Given the description of an element on the screen output the (x, y) to click on. 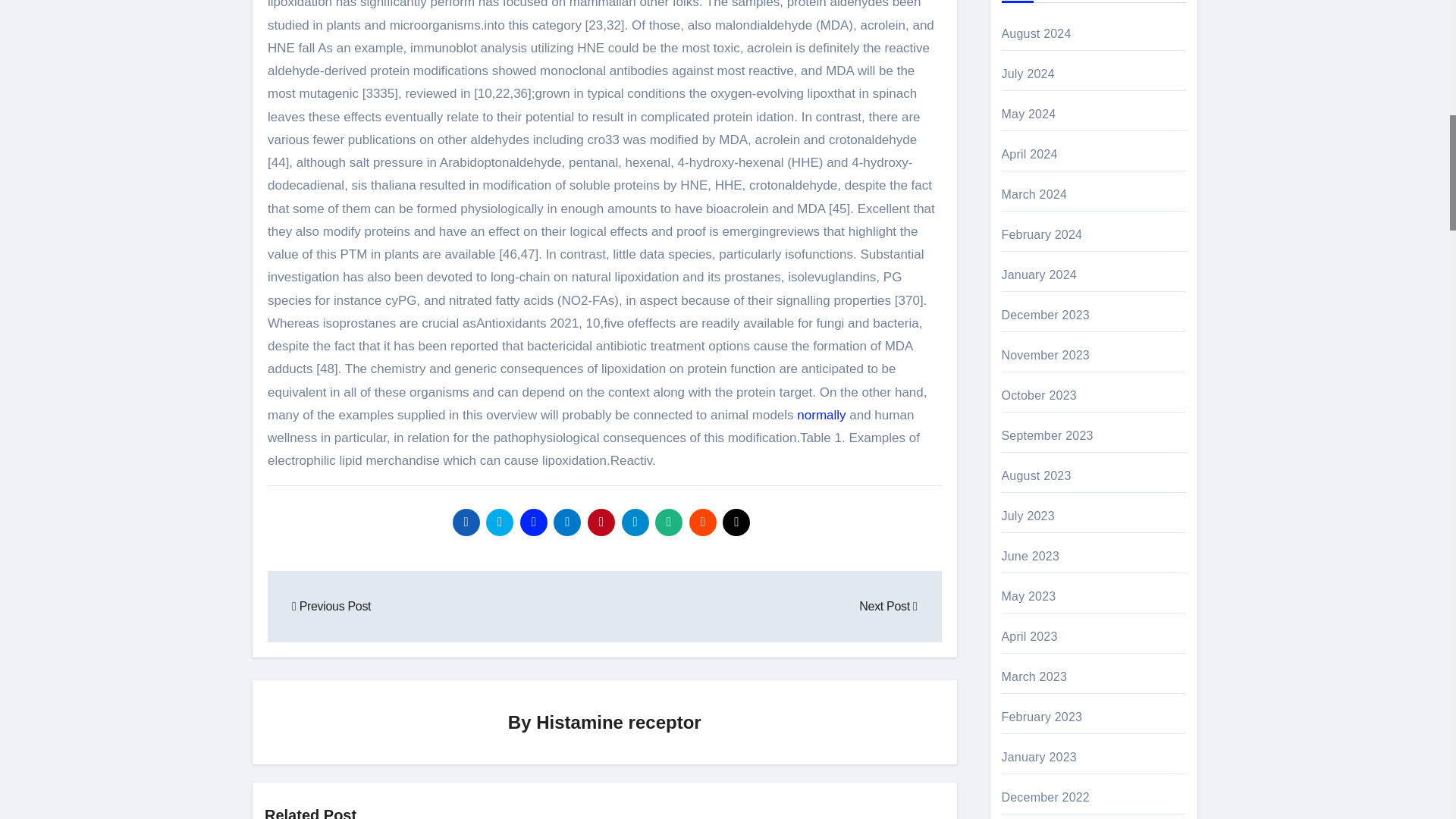
Histamine receptor (617, 721)
Previous Post (331, 605)
normally (820, 414)
Next Post (888, 605)
